Given the description of an element on the screen output the (x, y) to click on. 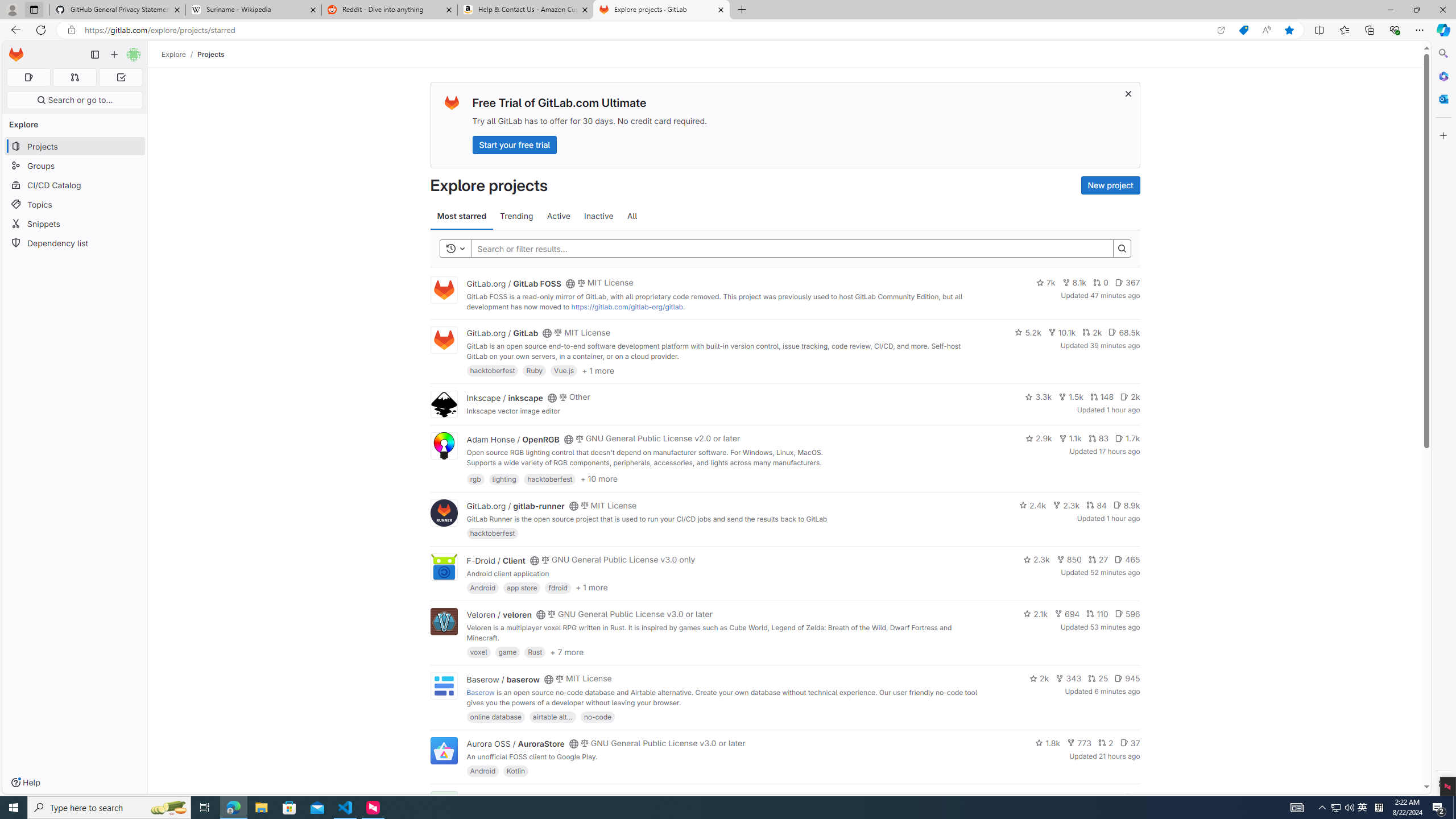
Create new... (113, 54)
Aurora OSS / AuroraStore (514, 743)
84 (1096, 504)
F-Droid / Client (495, 560)
2.9k (1038, 438)
8.9k (1126, 504)
Class: s16 (568, 798)
Veloren / veloren (498, 614)
Vue.js (563, 370)
Kotlin (515, 770)
